Given the description of an element on the screen output the (x, y) to click on. 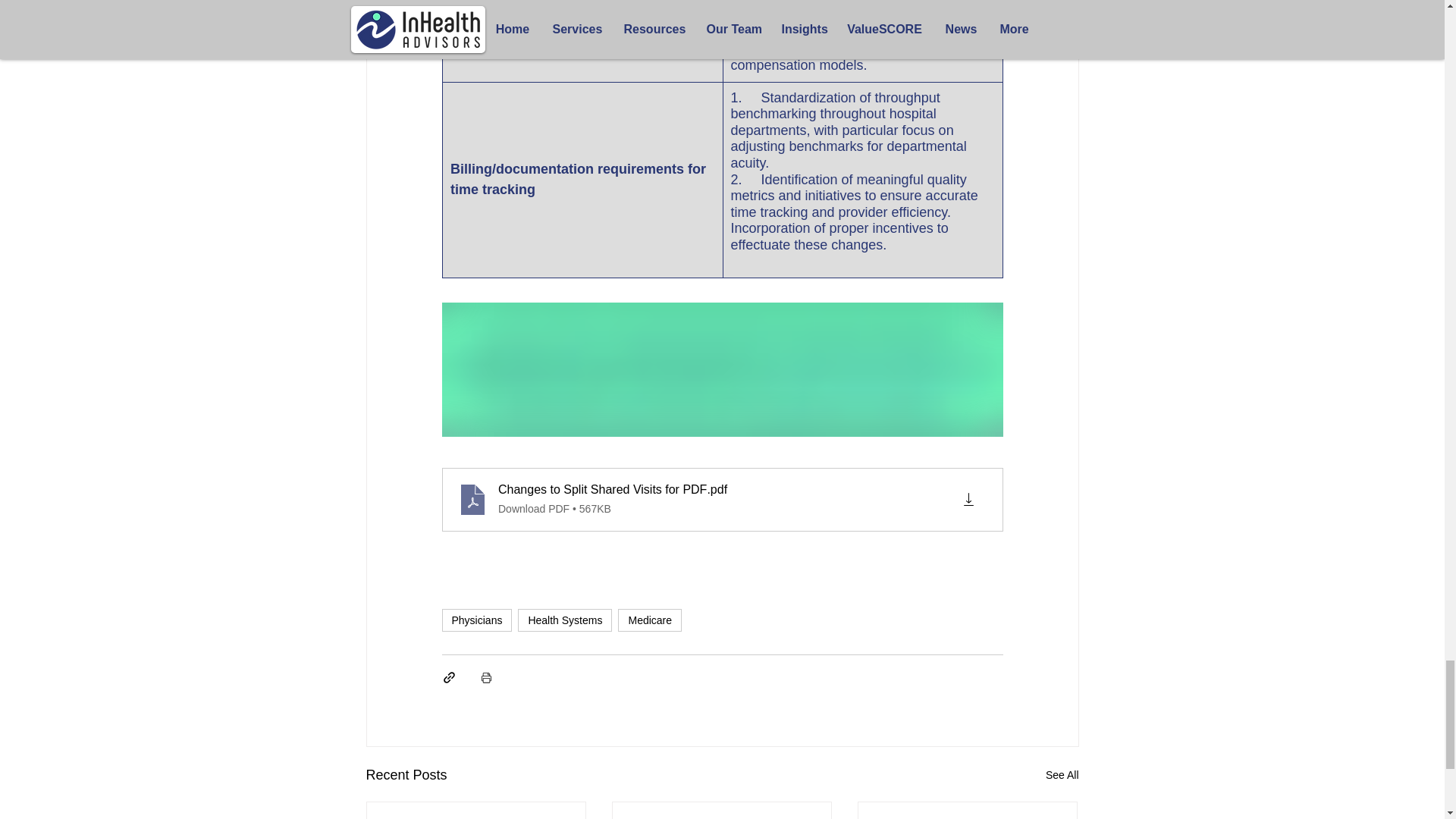
Physicians (476, 620)
Health Systems (564, 620)
Medicare (649, 620)
See All (1061, 775)
